Given the description of an element on the screen output the (x, y) to click on. 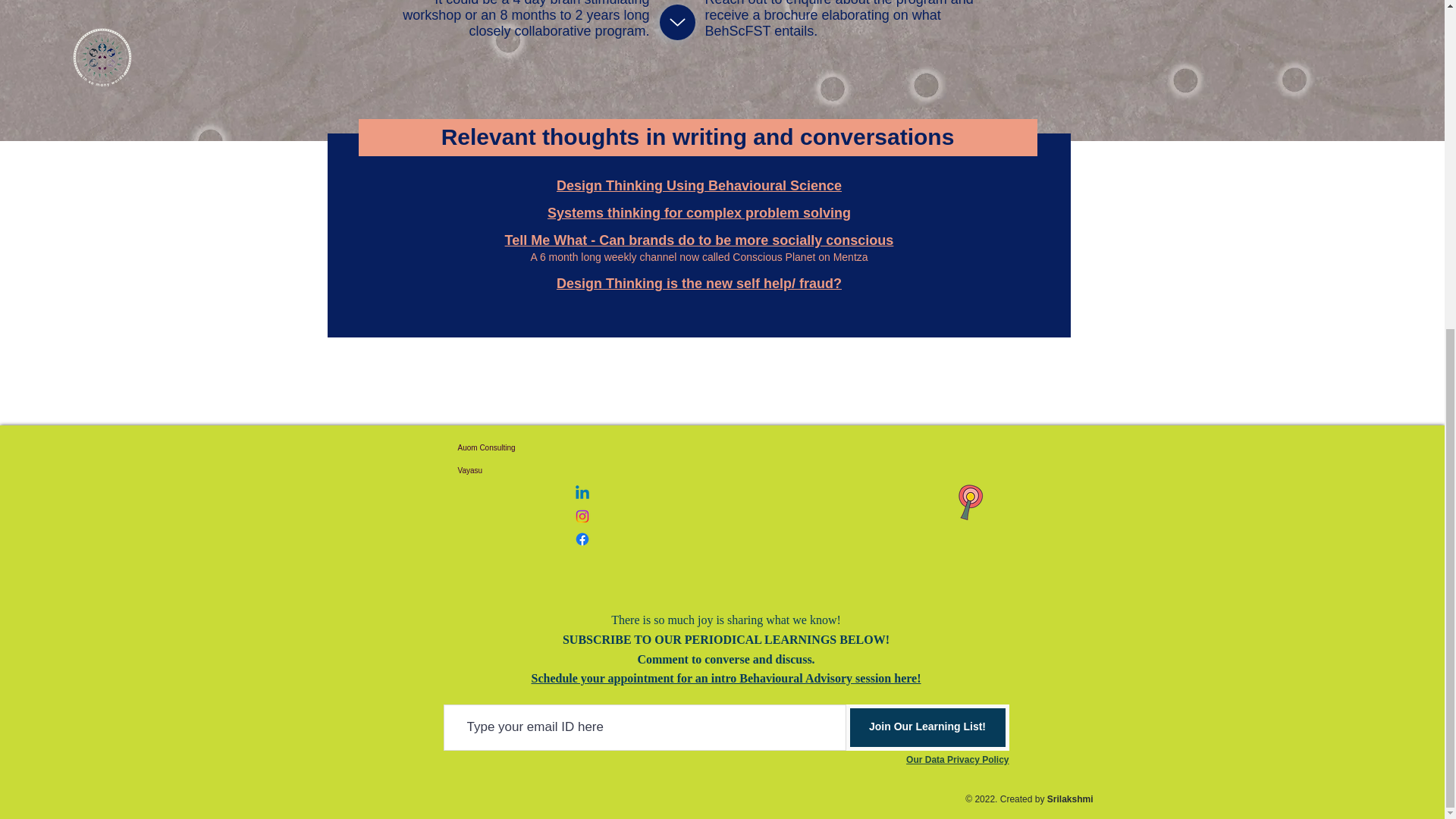
Join Our Learning List! (927, 727)
Srilakshmi (1069, 798)
Auom Consulting (528, 447)
Our Data Privacy Policy (957, 759)
Vayasu (528, 470)
Design Thinking Using Behavioural Science (698, 185)
